Given the description of an element on the screen output the (x, y) to click on. 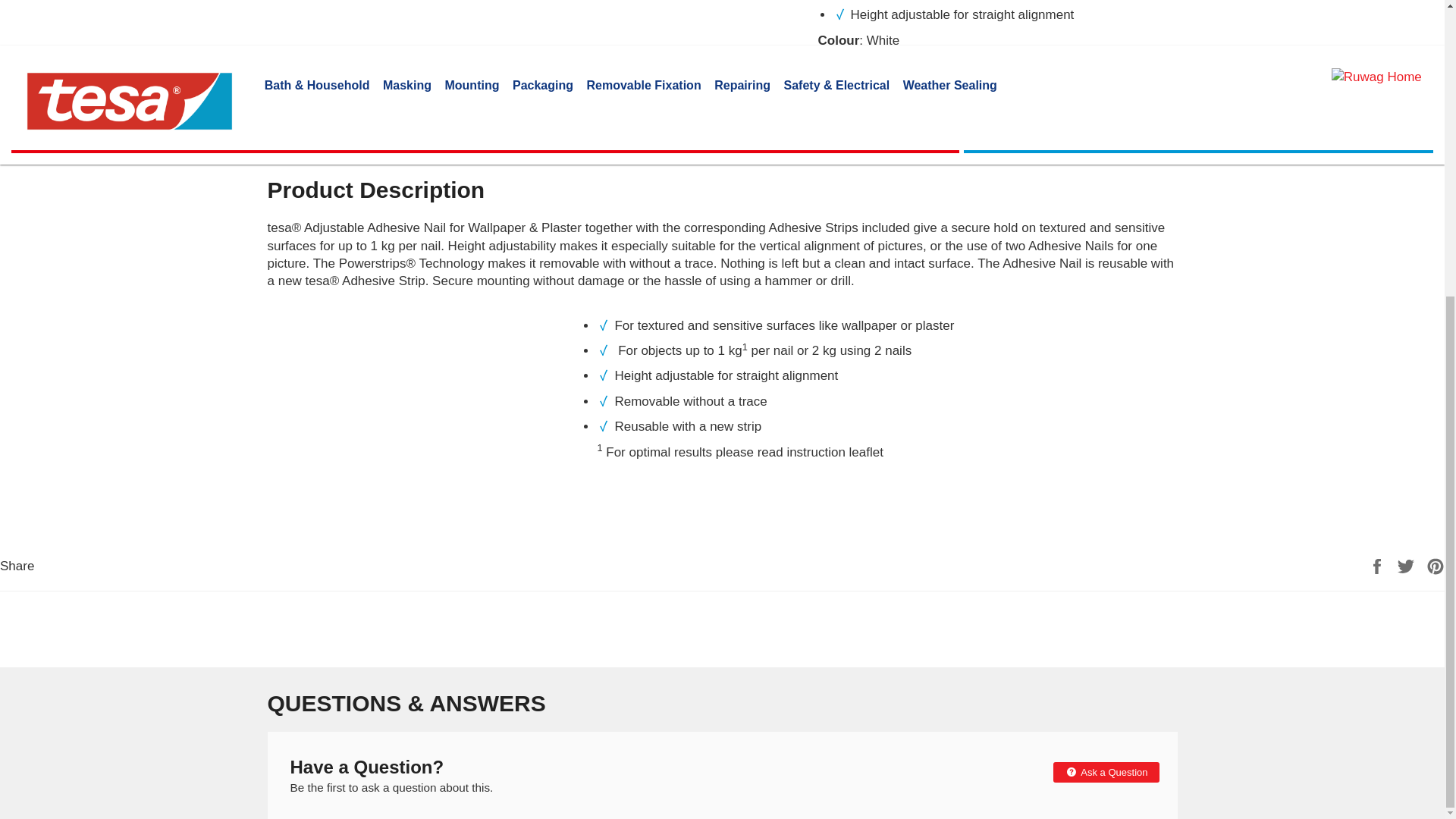
Share on Facebook (1379, 564)
Tweet on Twitter (1407, 564)
YouTube video player (418, 428)
